Given the description of an element on the screen output the (x, y) to click on. 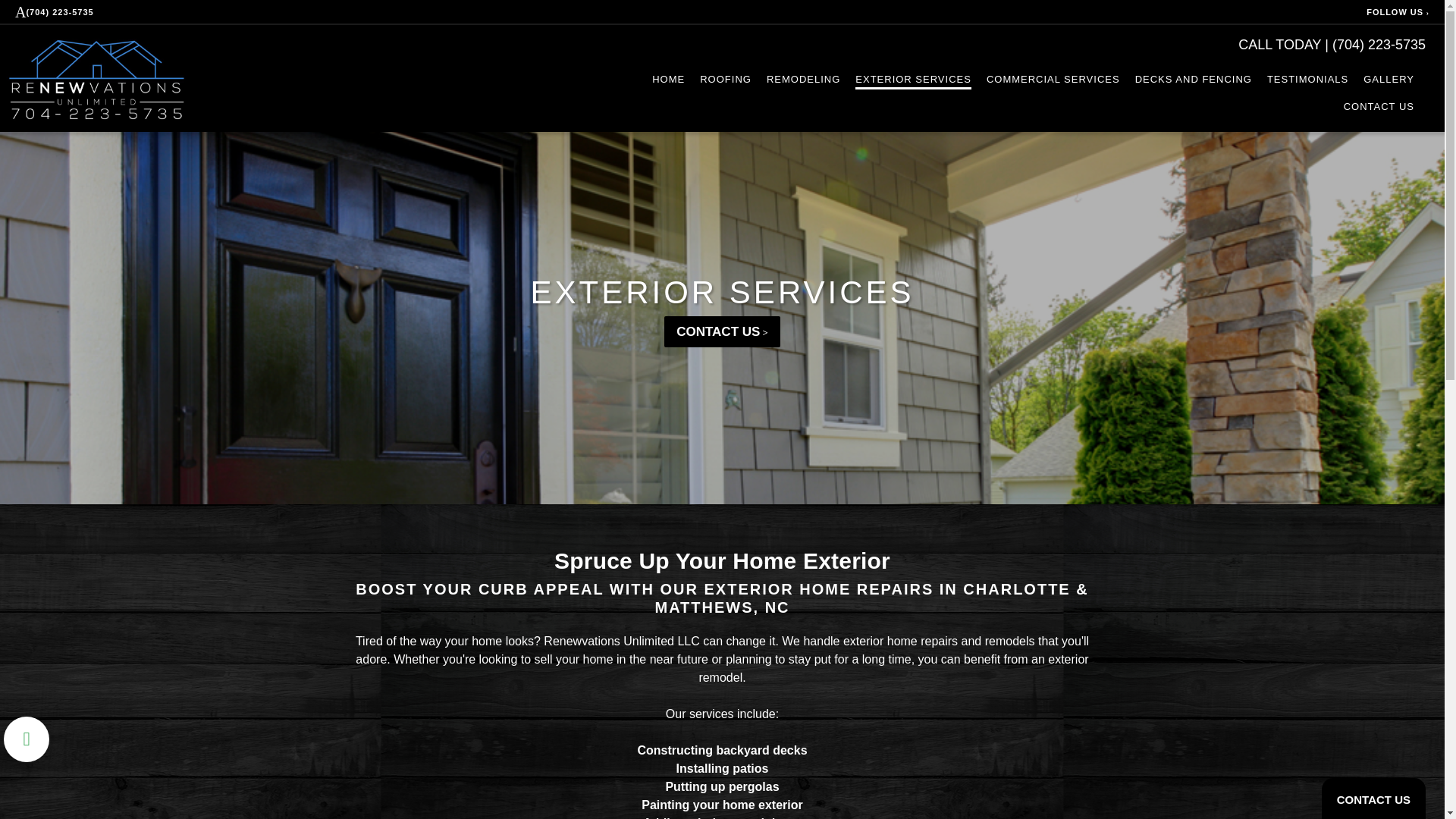
DECKS AND FENCING (1193, 79)
REMODELING (803, 79)
CONTACT US (1378, 107)
CONTACT US (721, 331)
EXTERIOR SERVICES (721, 292)
HOME (668, 79)
TESTIMONIALS (1307, 79)
ROOFING (725, 79)
EXTERIOR SERVICES (913, 79)
COMMERCIAL SERVICES (1053, 79)
GALLERY (1387, 79)
